Given the description of an element on the screen output the (x, y) to click on. 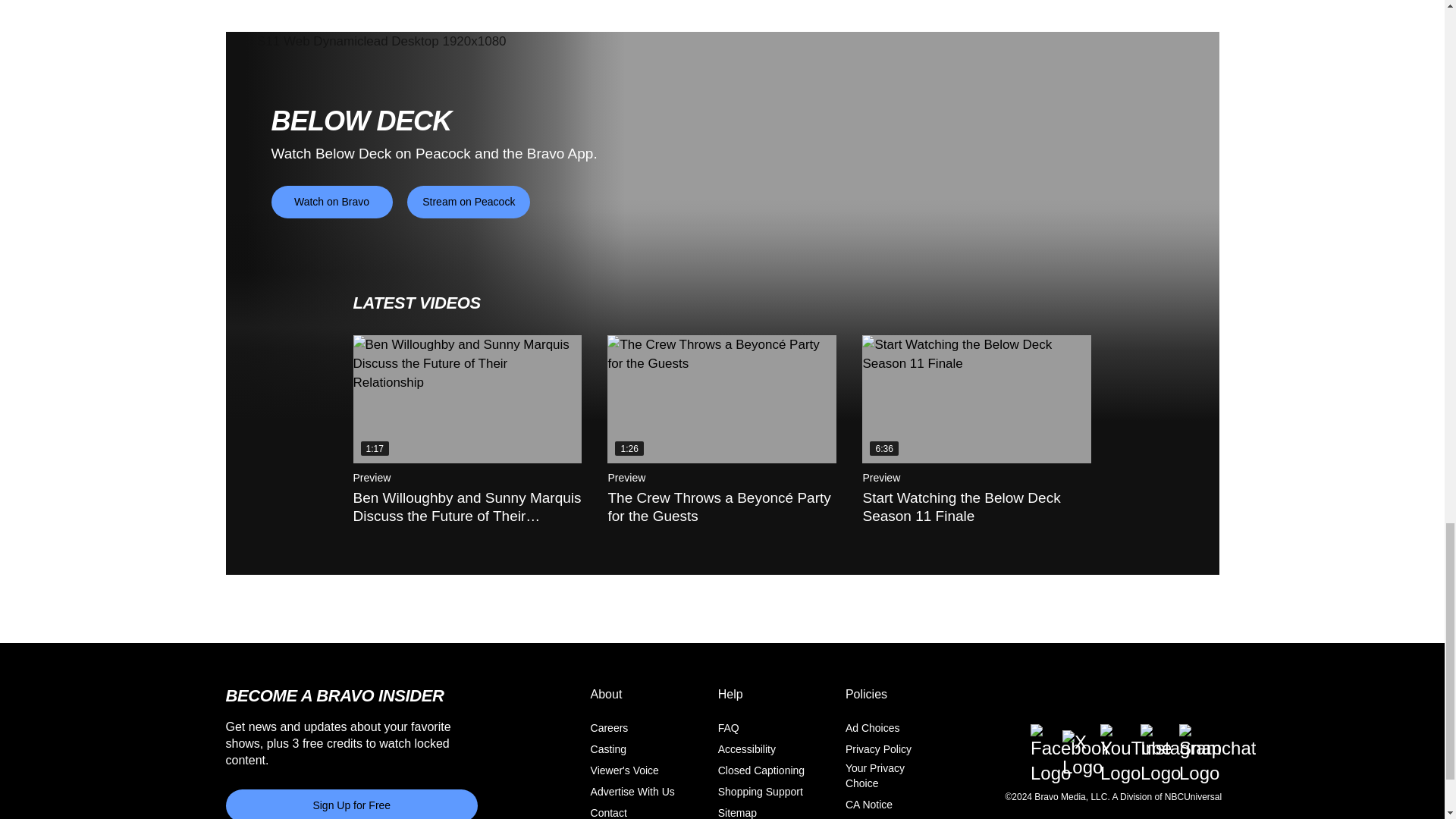
Start Watching the Below Deck Season 11 Finale (975, 399)
Advertise With Us (633, 792)
